Given the description of an element on the screen output the (x, y) to click on. 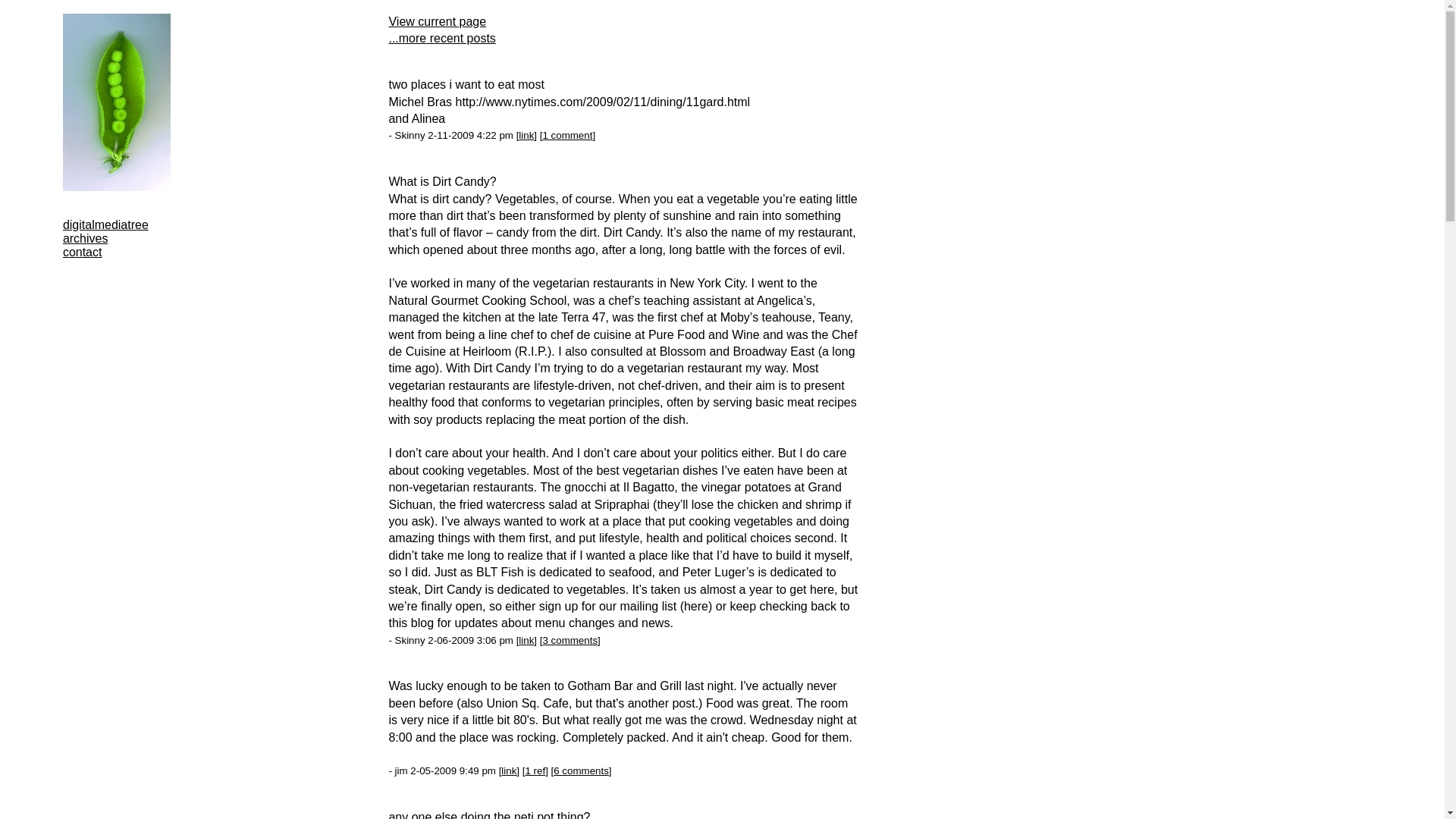
link (526, 640)
link (508, 770)
...more recent posts (441, 38)
link (526, 134)
digitalmediatree (105, 224)
3 comments (568, 640)
1 comment (566, 134)
contact (81, 251)
View current page (437, 21)
archives (84, 237)
6 comments (580, 770)
1 ref (534, 770)
the neti (512, 814)
